Given the description of an element on the screen output the (x, y) to click on. 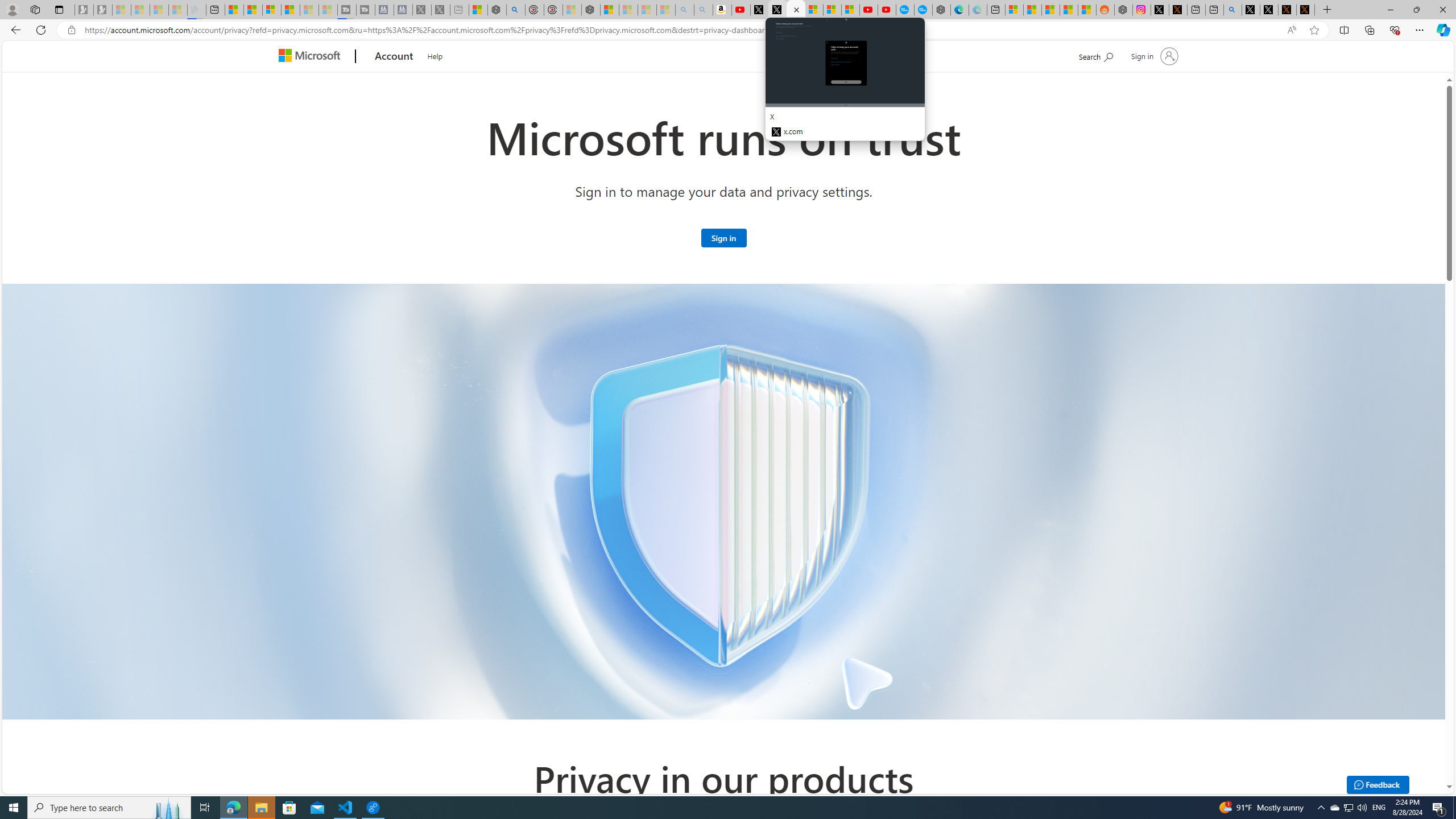
github - Search (1232, 9)
Shanghai, China hourly forecast | Microsoft Weather (1050, 9)
